Given the description of an element on the screen output the (x, y) to click on. 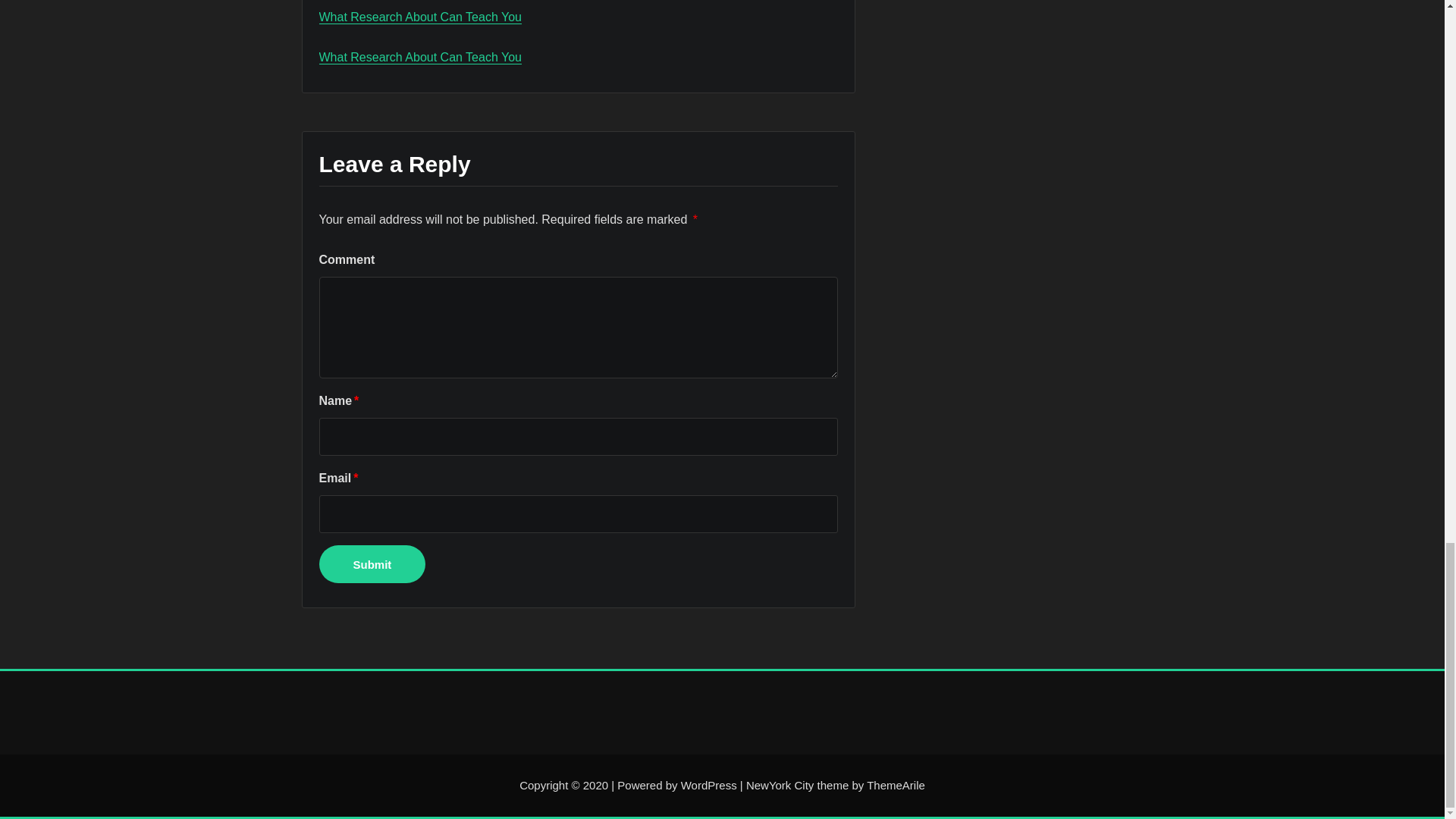
What Research About Can Teach You (419, 56)
What Research About Can Teach You (419, 16)
Submit (371, 564)
Submit (371, 564)
